Given the description of an element on the screen output the (x, y) to click on. 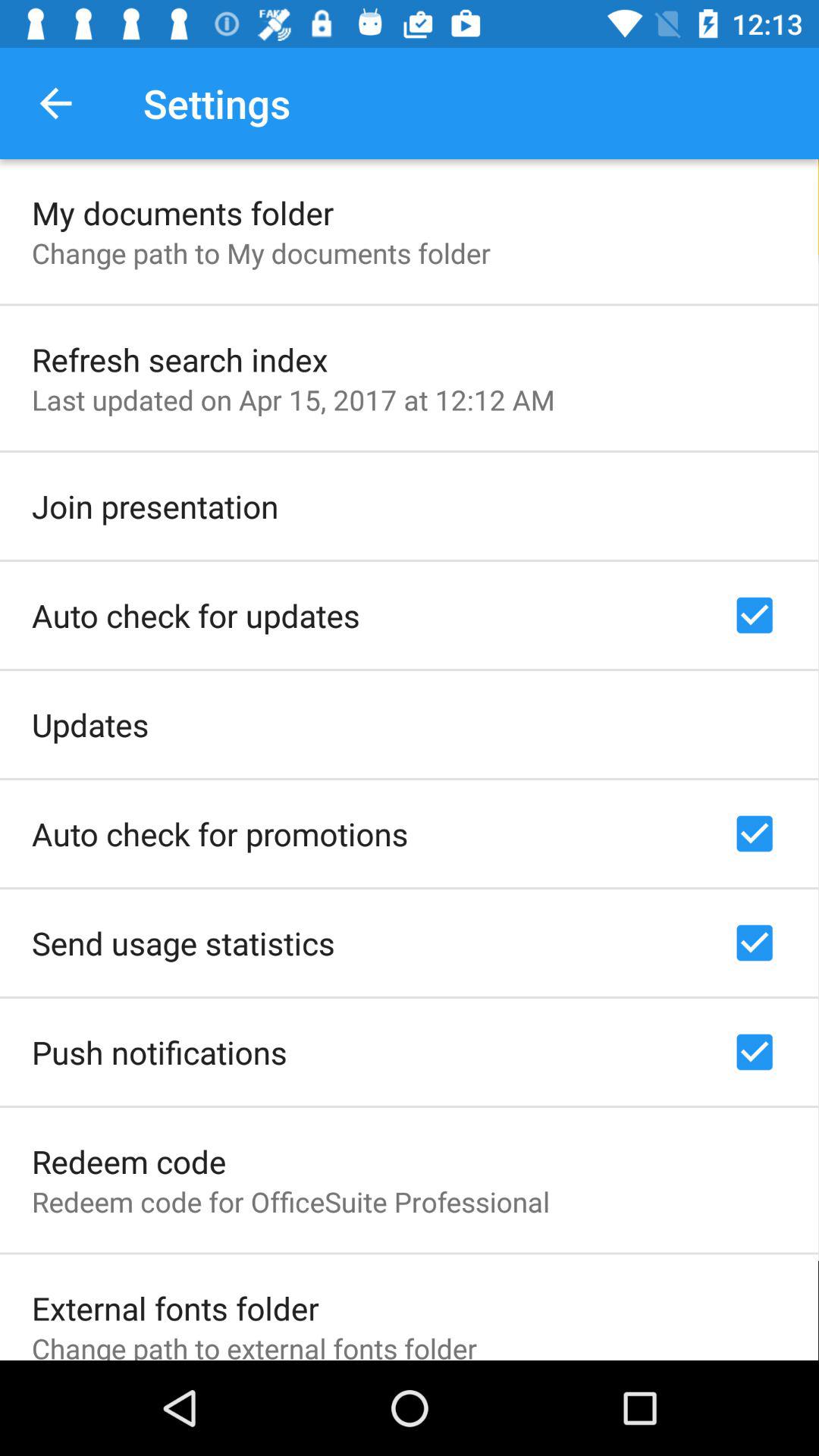
choose app next to the settings item (55, 103)
